Given the description of an element on the screen output the (x, y) to click on. 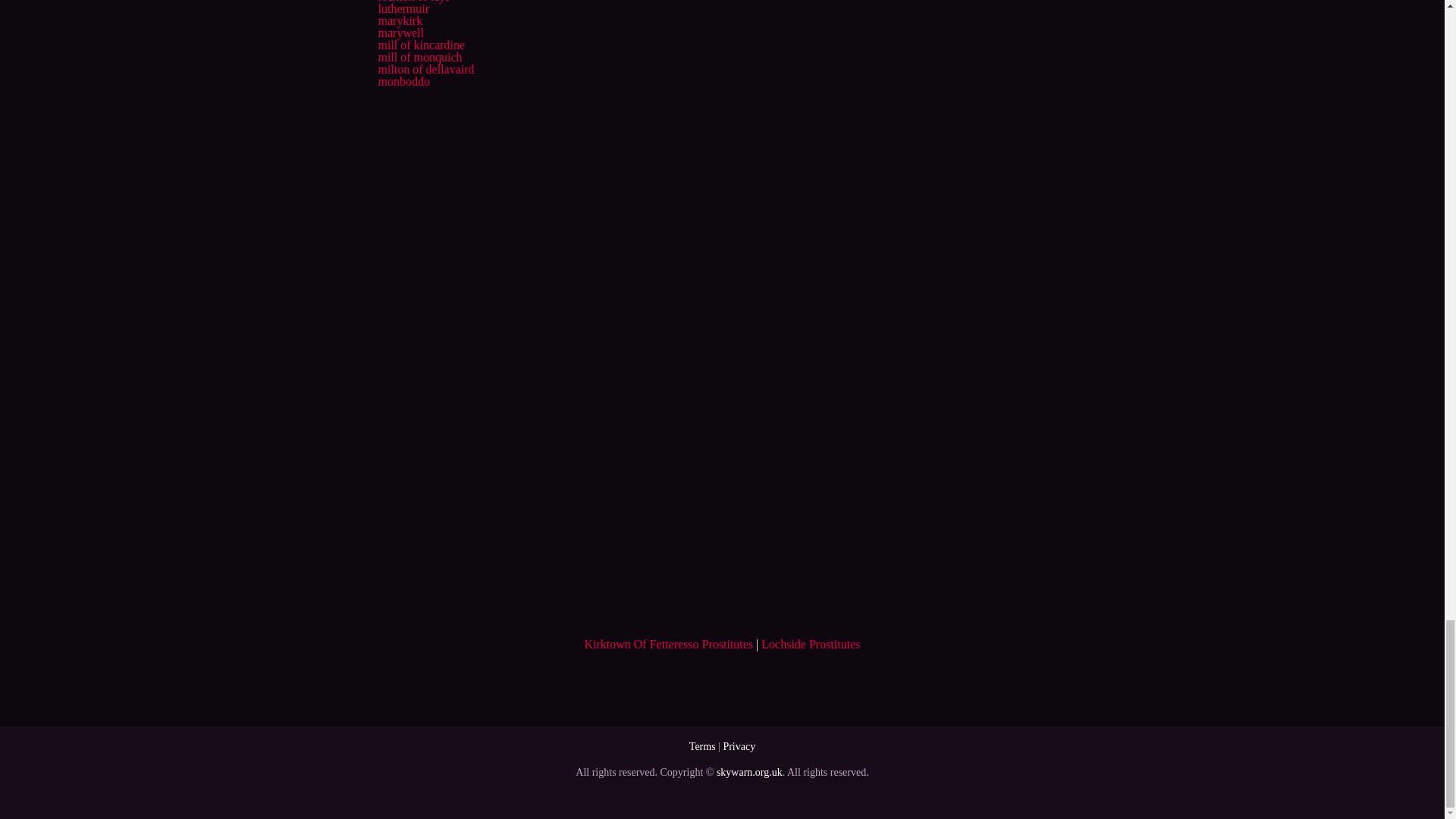
marykirk (399, 20)
monboddo (403, 81)
Privacy (738, 746)
Lochside Prostitutes (810, 644)
marywell (400, 32)
lochton of leys (413, 1)
skywarn.org.uk (749, 772)
luthermuir (403, 8)
mill of kincardine (420, 44)
Privacy (738, 746)
